Given the description of an element on the screen output the (x, y) to click on. 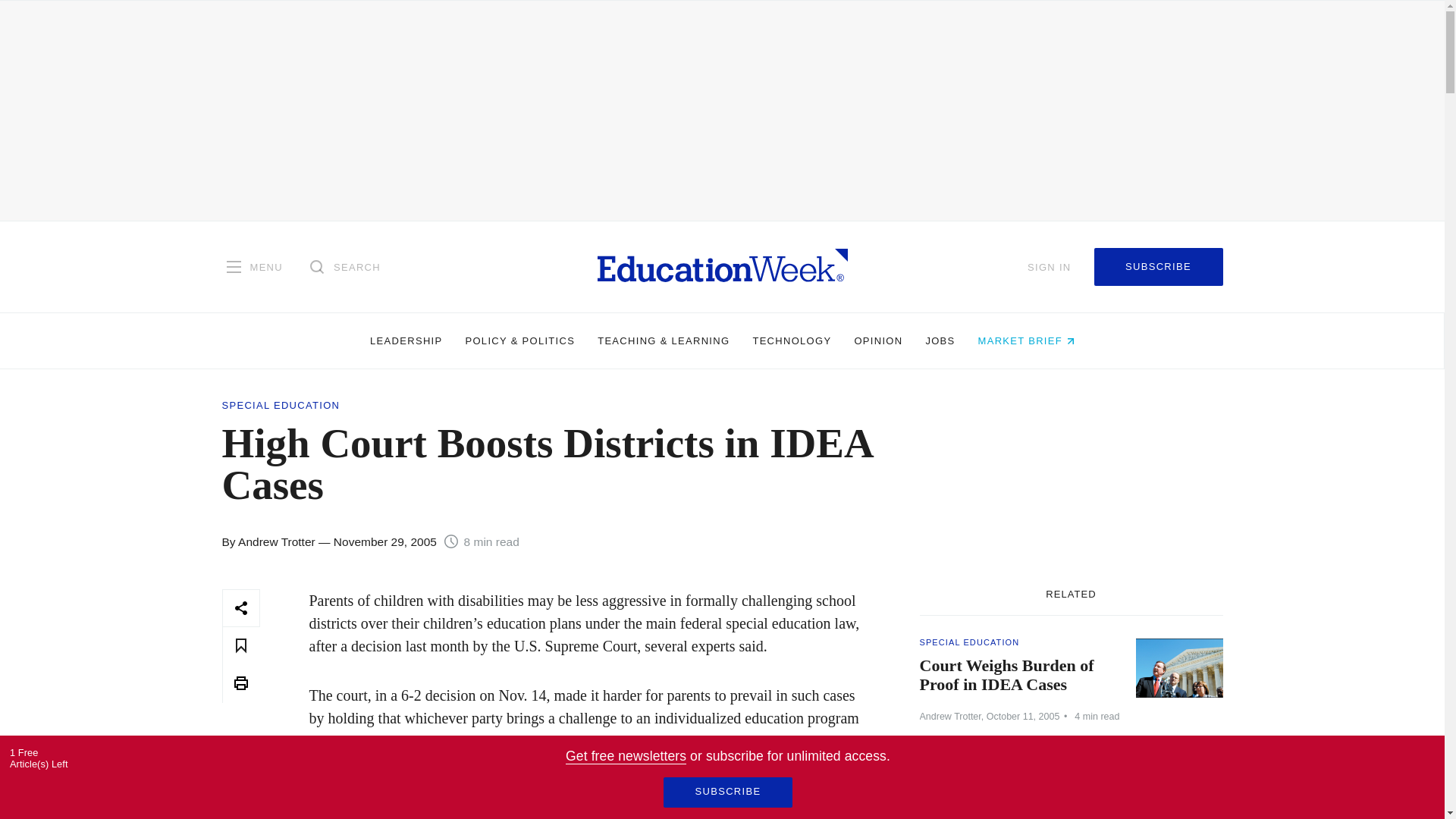
Homepage (721, 266)
